Given the description of an element on the screen output the (x, y) to click on. 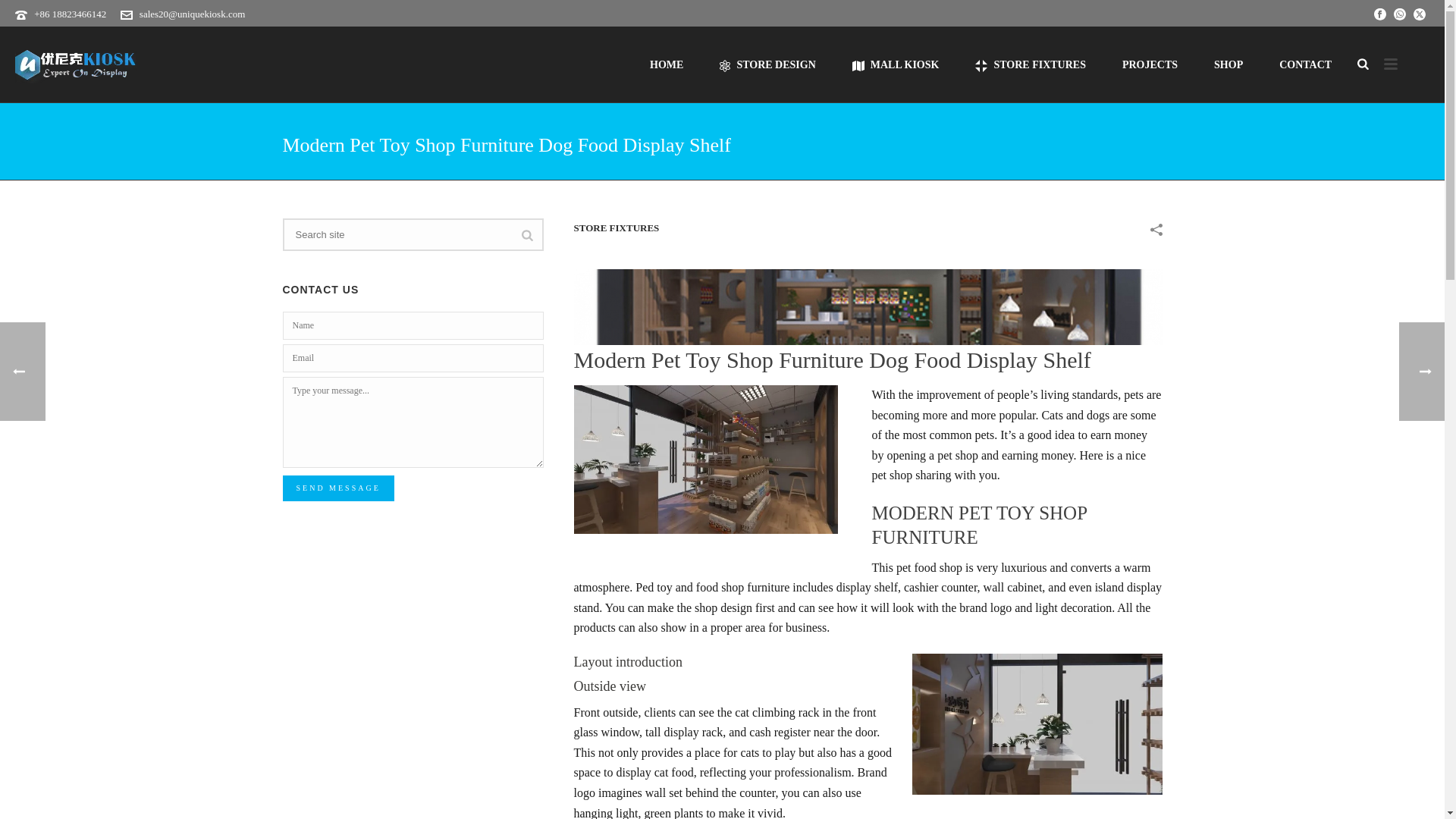
STORE DESIGN (767, 64)
SHOP (1227, 64)
HOME (666, 64)
HOME (666, 64)
PROJECTS (1149, 64)
MALL KIOSK (895, 64)
STORE DESIGN (767, 64)
STORE FIXTURES (1030, 64)
Modern Pet Toy Shop Furniture Dog Food Display Shelf (867, 305)
CONTACT (1305, 64)
